Given the description of an element on the screen output the (x, y) to click on. 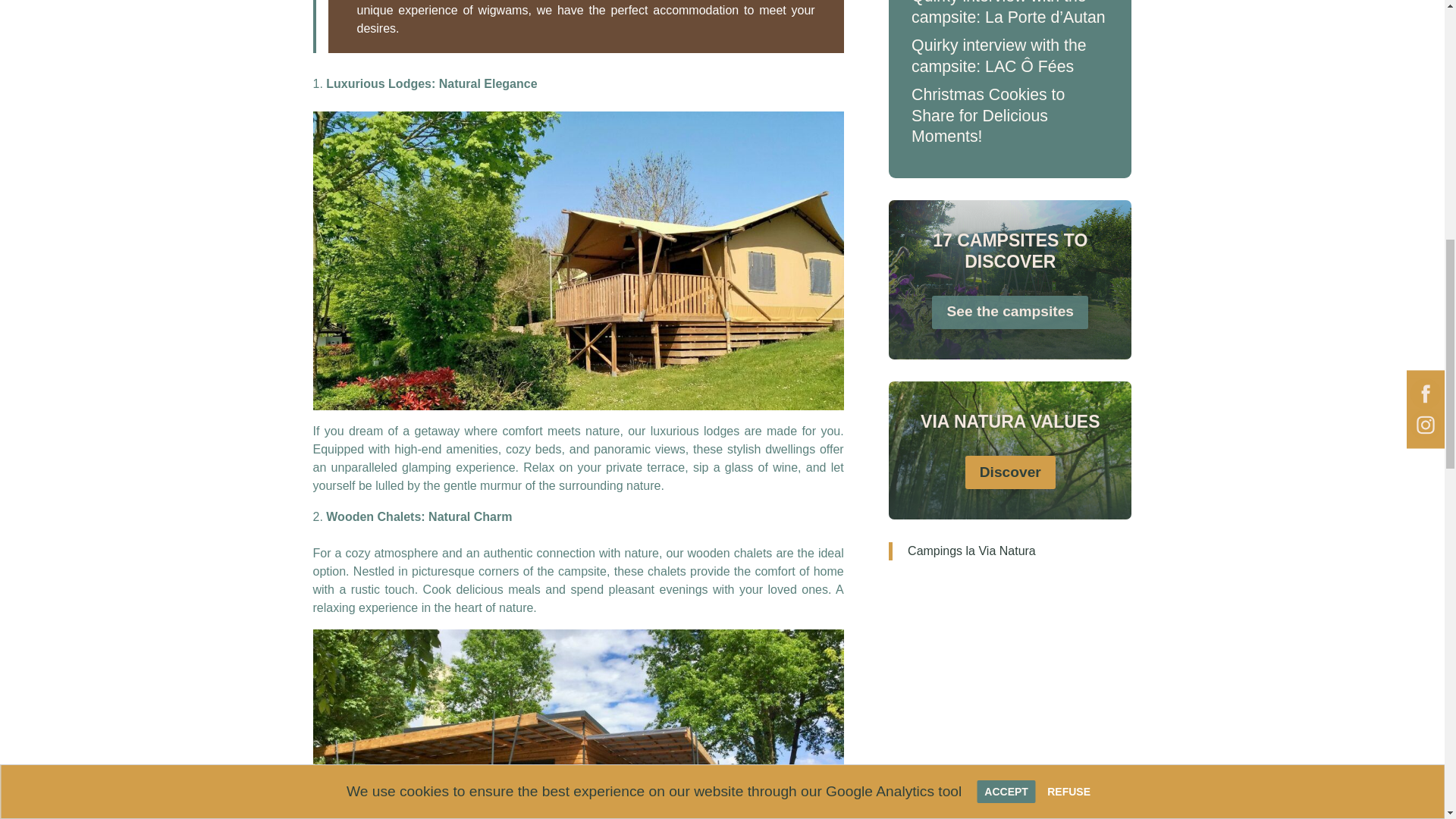
Christmas Cookies to Share for Delicious Moments!    (987, 115)
Campings la Via Natura (971, 550)
Discover (1010, 471)
See the campsites (1009, 312)
